Given the description of an element on the screen output the (x, y) to click on. 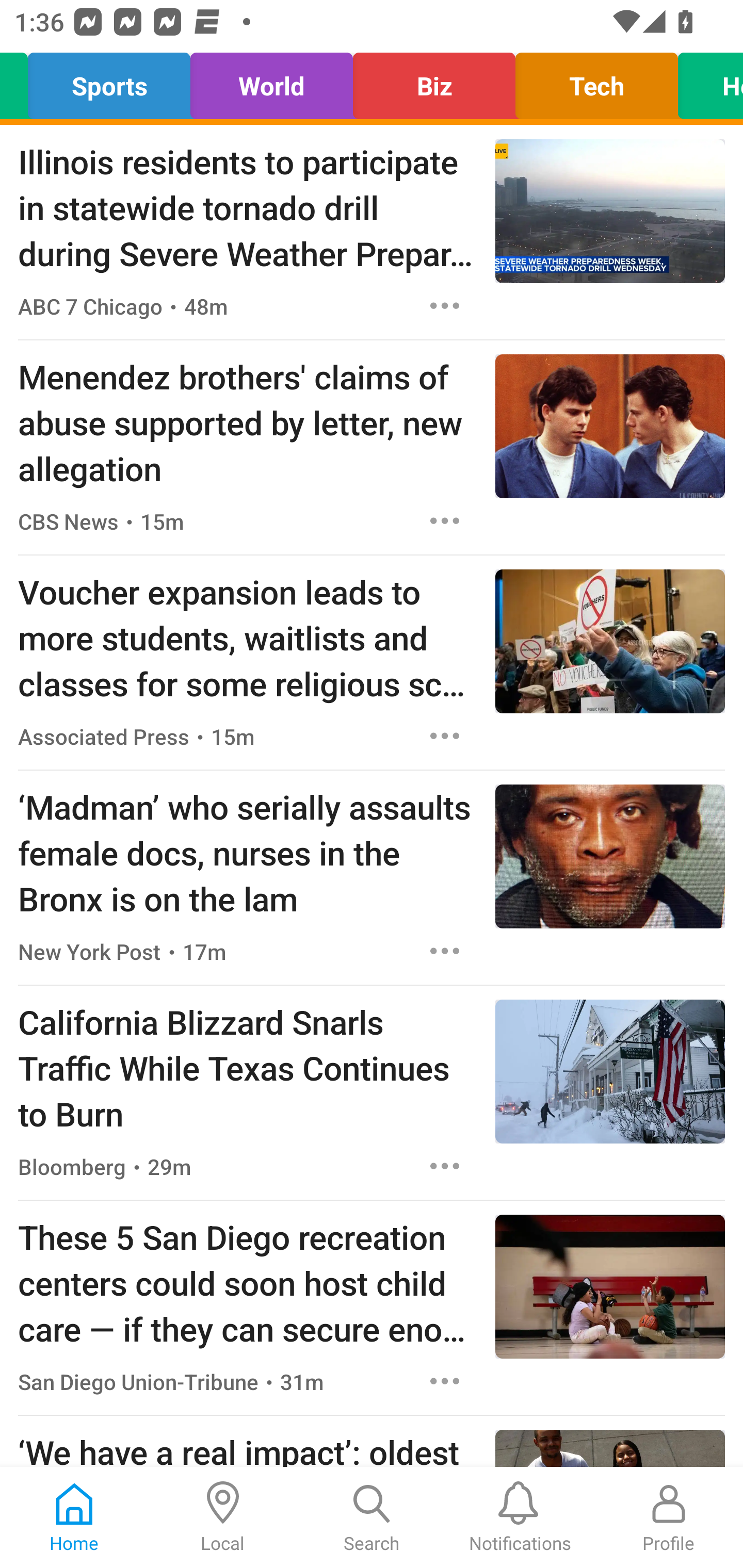
Sports (109, 81)
World (271, 81)
Biz (433, 81)
Tech (596, 81)
Options (444, 305)
Options (444, 520)
Options (444, 736)
Options (444, 950)
Options (444, 1166)
Options (444, 1381)
Local (222, 1517)
Search (371, 1517)
Notifications (519, 1517)
Profile (668, 1517)
